Given the description of an element on the screen output the (x, y) to click on. 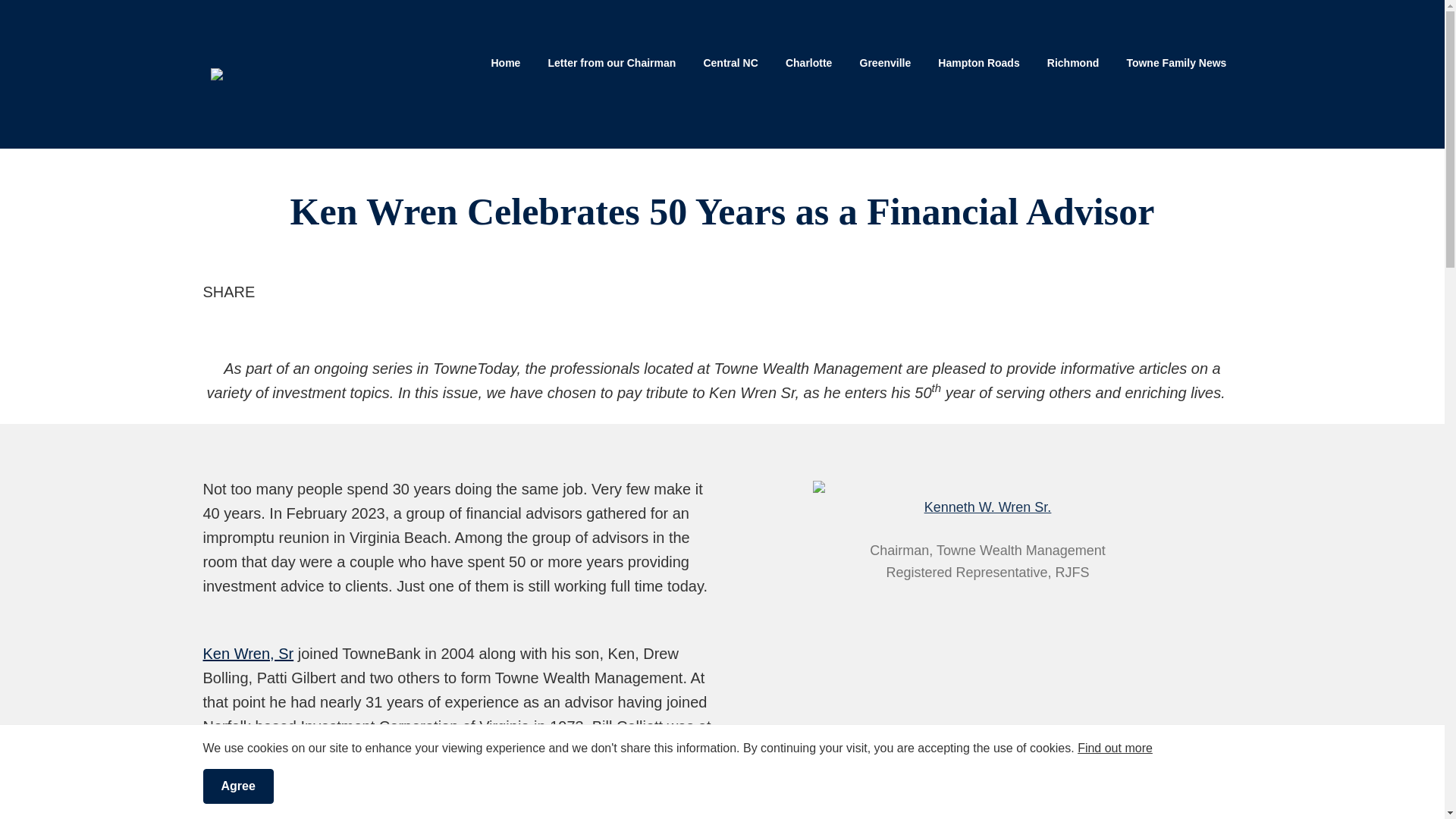
Kenneth W. Wren Sr. (986, 507)
Toggle search (494, 93)
Greenville (884, 63)
Richmond (1072, 63)
Ken Wren, Sr (248, 653)
Hampton Roads (978, 63)
Charlotte (808, 63)
Agree (238, 786)
Central NC (730, 63)
Towne Family News (1175, 63)
